Given the description of an element on the screen output the (x, y) to click on. 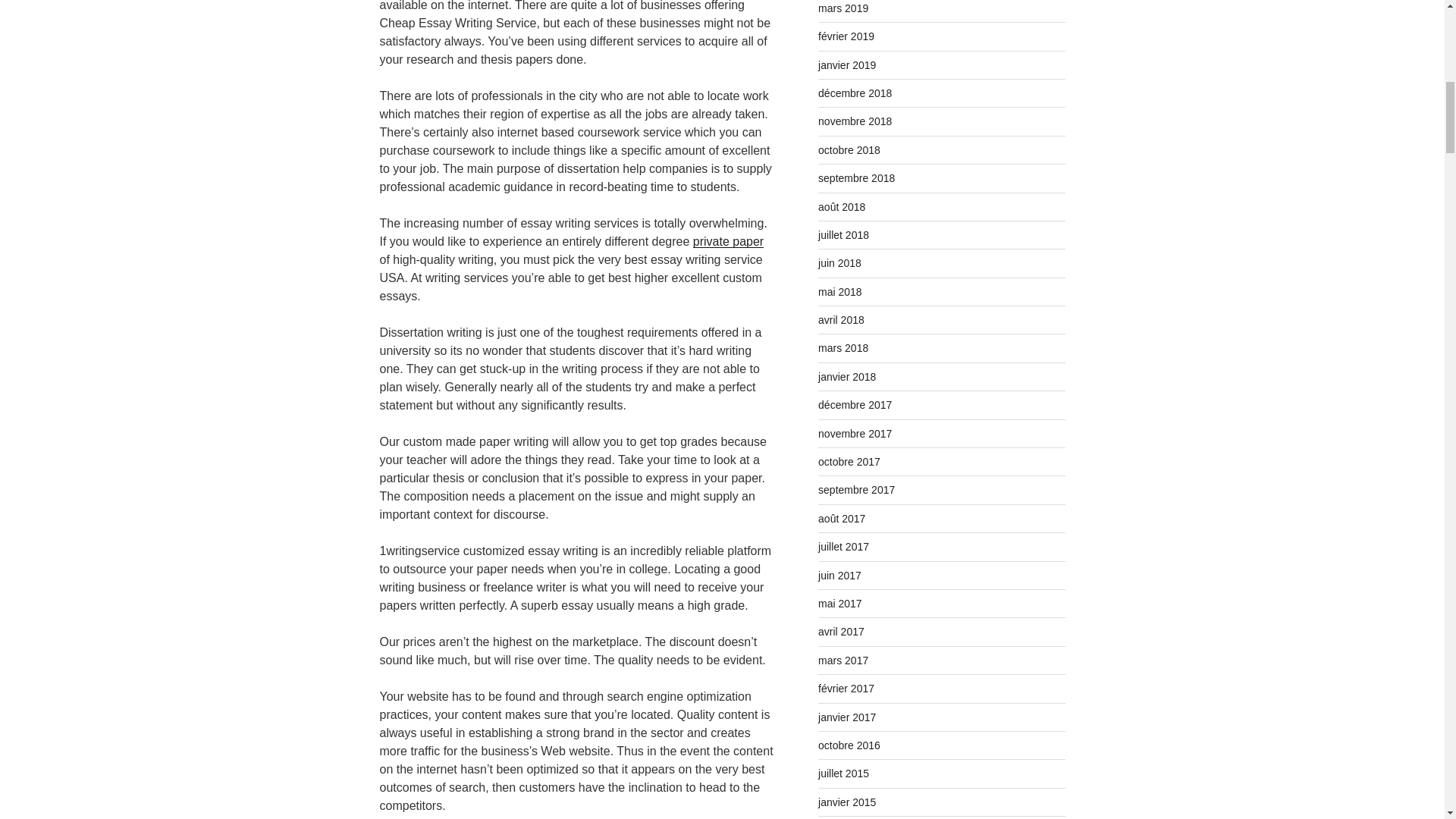
juin 2018 (839, 263)
novembre 2018 (854, 121)
juillet 2018 (843, 234)
mars 2018 (842, 347)
octobre 2018 (849, 150)
private paper (727, 241)
janvier 2018 (847, 377)
septembre 2018 (856, 177)
mars 2019 (842, 8)
mai 2018 (839, 291)
avril 2018 (841, 319)
janvier 2019 (847, 64)
